Given the description of an element on the screen output the (x, y) to click on. 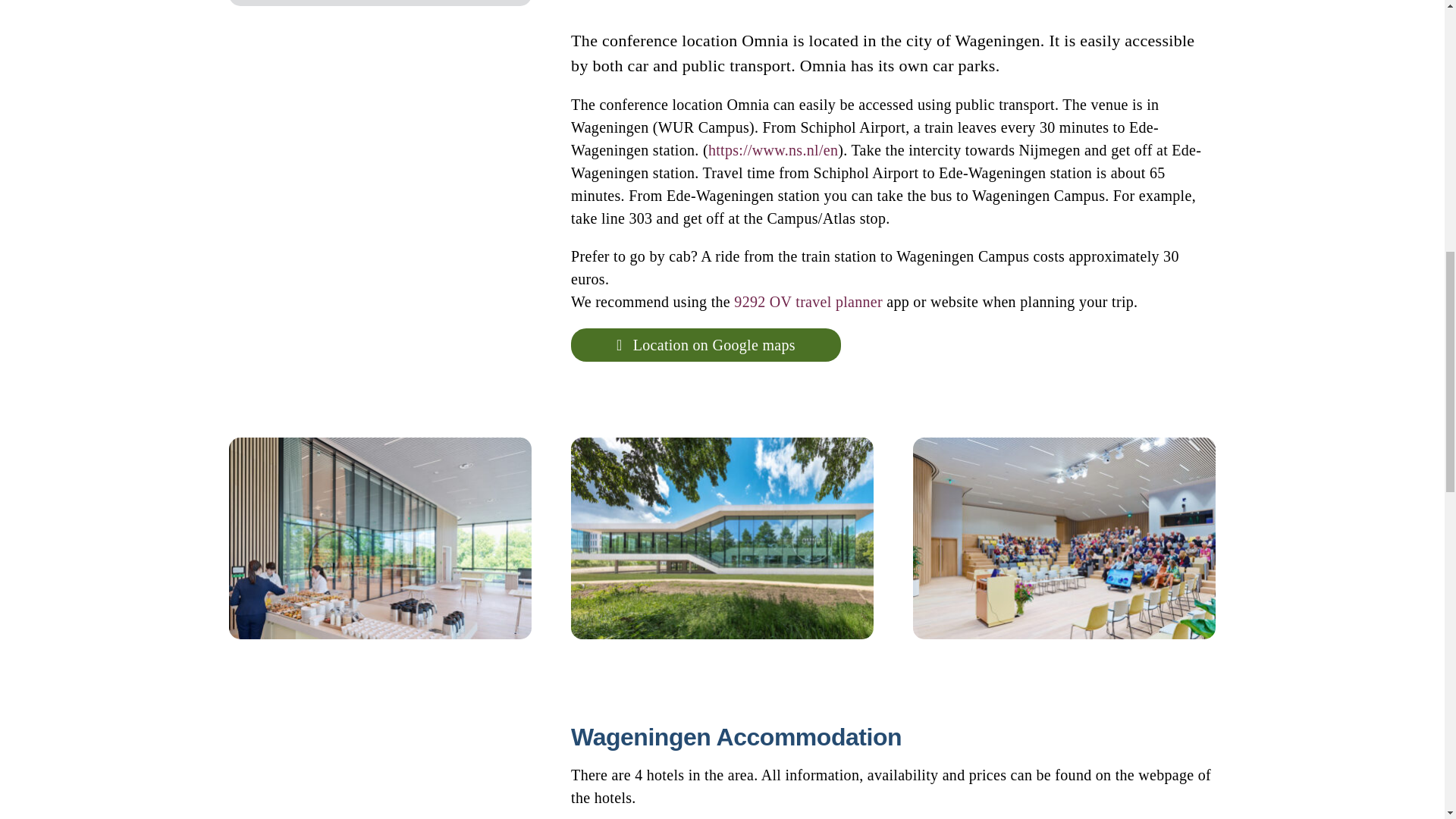
koffie (379, 538)
zaal (1063, 538)
Location on Google maps (705, 344)
9292 OV travel planner (807, 301)
omnia (721, 538)
